Given the description of an element on the screen output the (x, y) to click on. 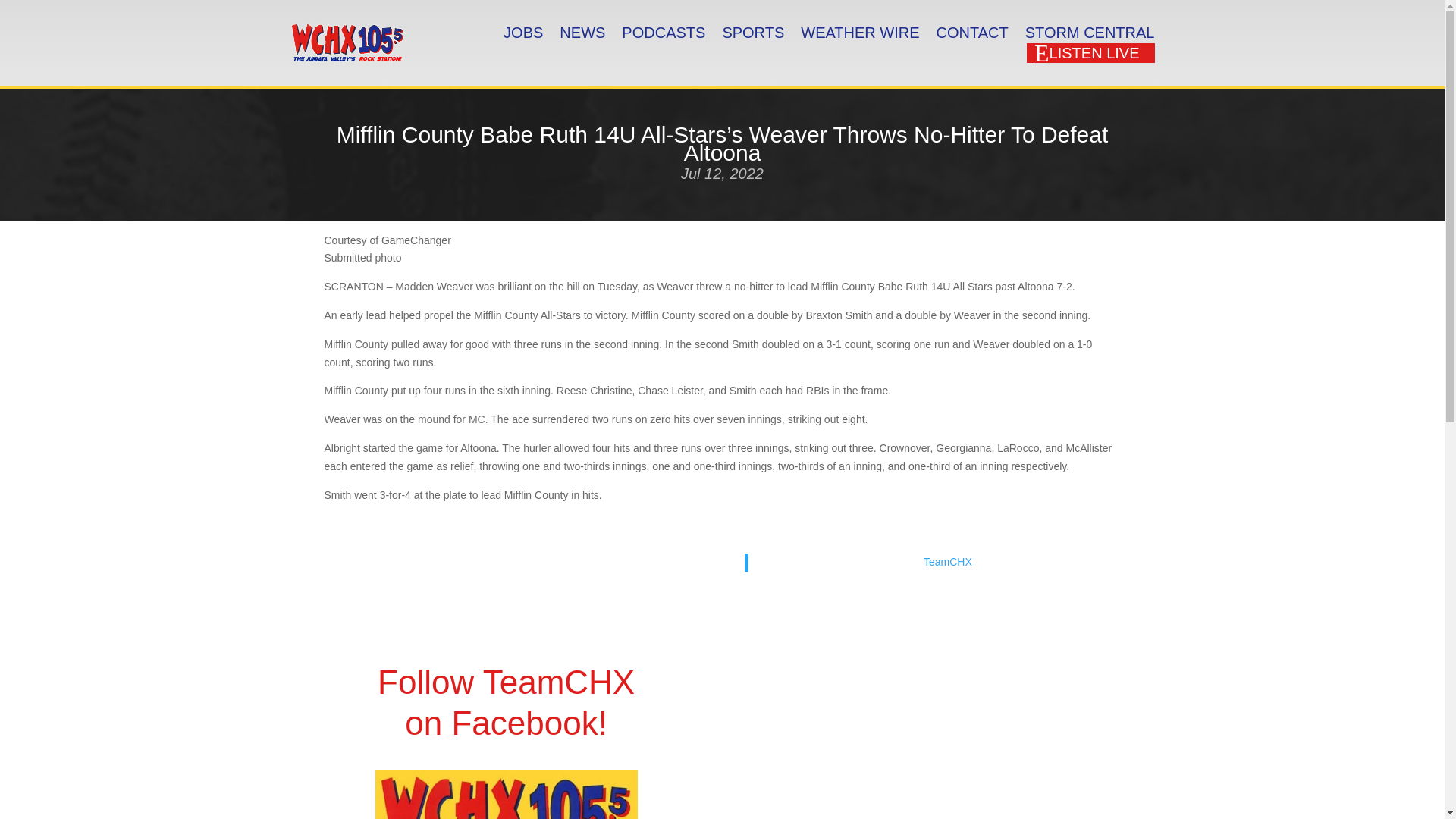
SPORTS (753, 32)
STORM CENTRAL (1089, 32)
JOBS (523, 32)
NEWS (582, 32)
TeamCHX (947, 562)
LISTEN LIVE (1090, 53)
WEATHER WIRE (859, 32)
PODCASTS (662, 32)
CONTACT (972, 32)
WCHX ROCKIN SPORTS (506, 794)
